Given the description of an element on the screen output the (x, y) to click on. 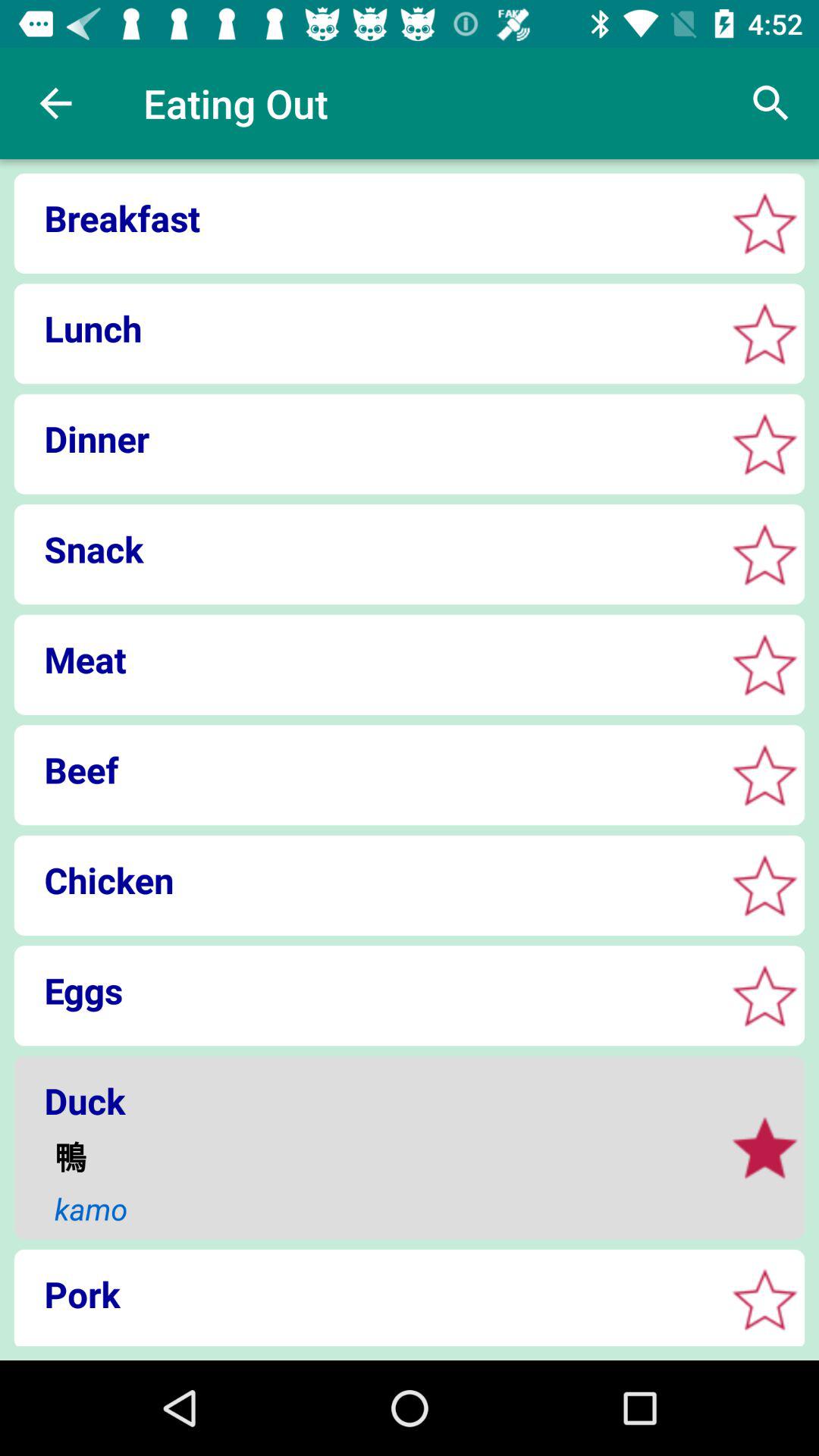
swipe until eggs (364, 990)
